Given the description of an element on the screen output the (x, y) to click on. 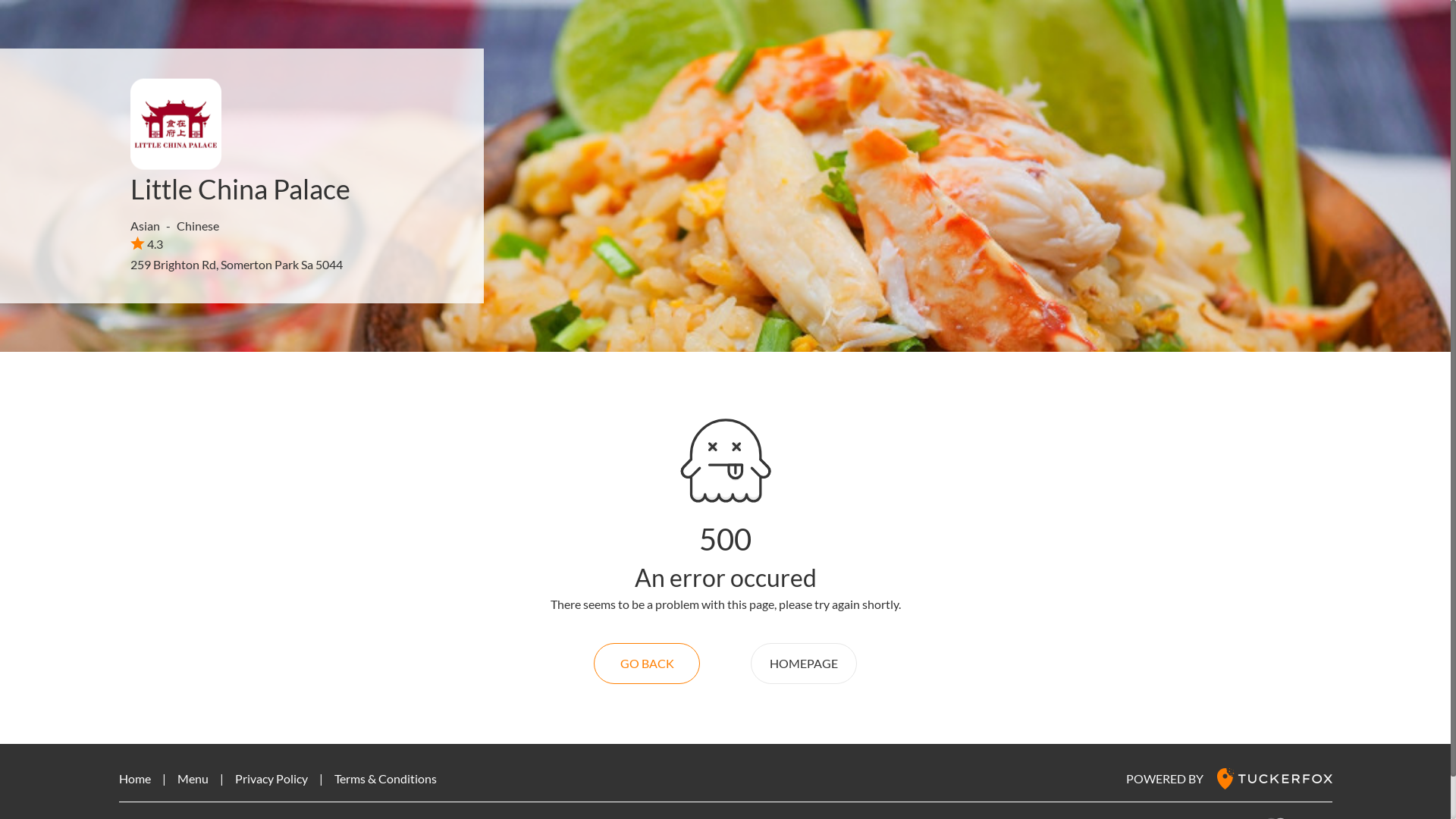
4.3 Element type: text (146, 243)
Privacy Policy Element type: text (271, 778)
GO BACK Element type: text (646, 663)
Home Element type: text (134, 778)
Little China Palace Element type: text (240, 188)
HOMEPAGE Element type: text (803, 663)
Terms & Conditions Element type: text (384, 778)
Menu Element type: text (192, 778)
